Given the description of an element on the screen output the (x, y) to click on. 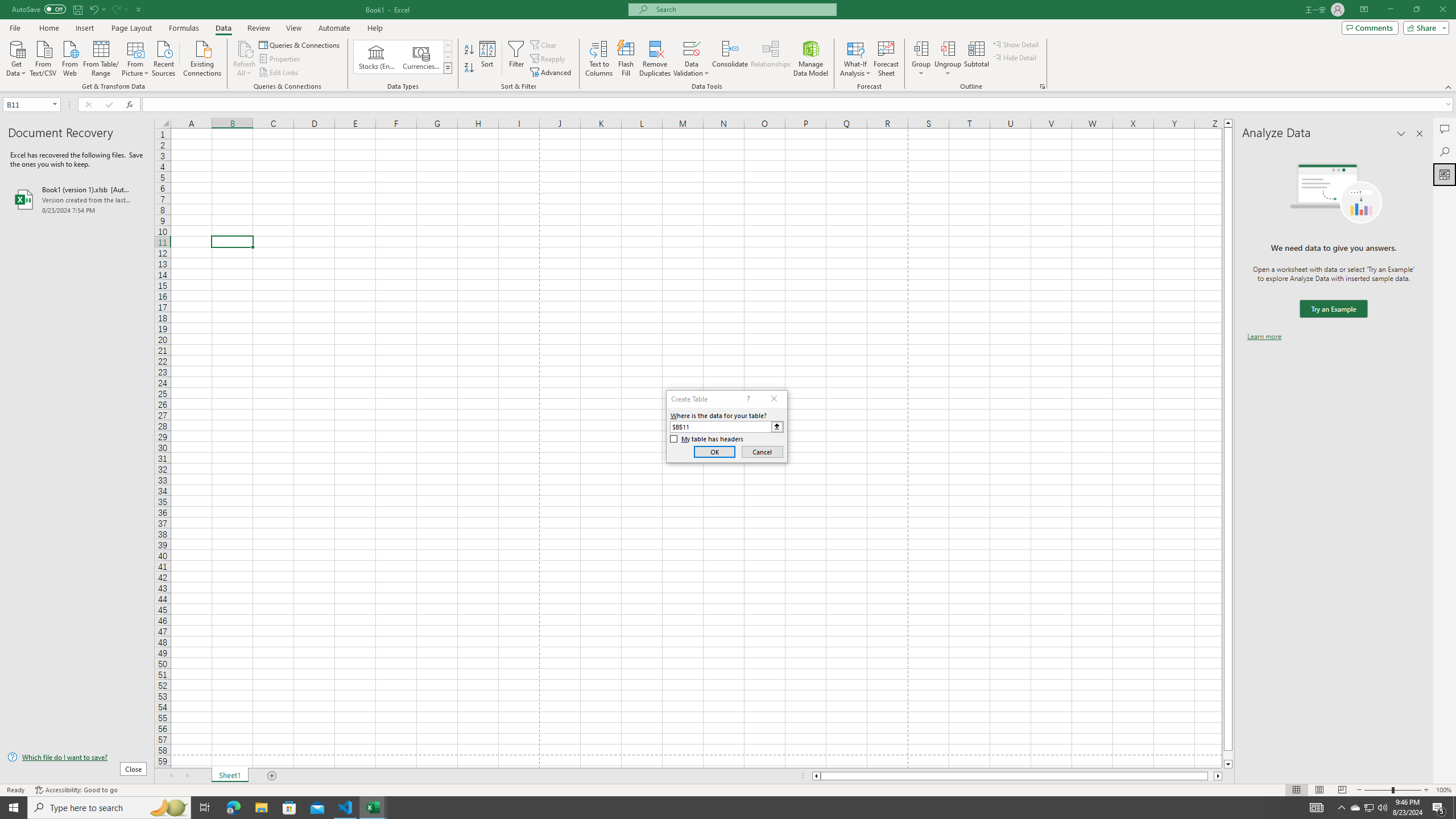
Search (1444, 151)
Relationships (770, 58)
Analyze Data (1444, 173)
File Tab (15, 27)
Forecast Sheet (885, 58)
Class: NetUIImage (447, 68)
Normal (1296, 790)
Data Validation... (691, 48)
Help (374, 28)
Column left (815, 775)
Scroll Right (187, 775)
Ungroup... (947, 58)
Scroll Left (171, 775)
